Given the description of an element on the screen output the (x, y) to click on. 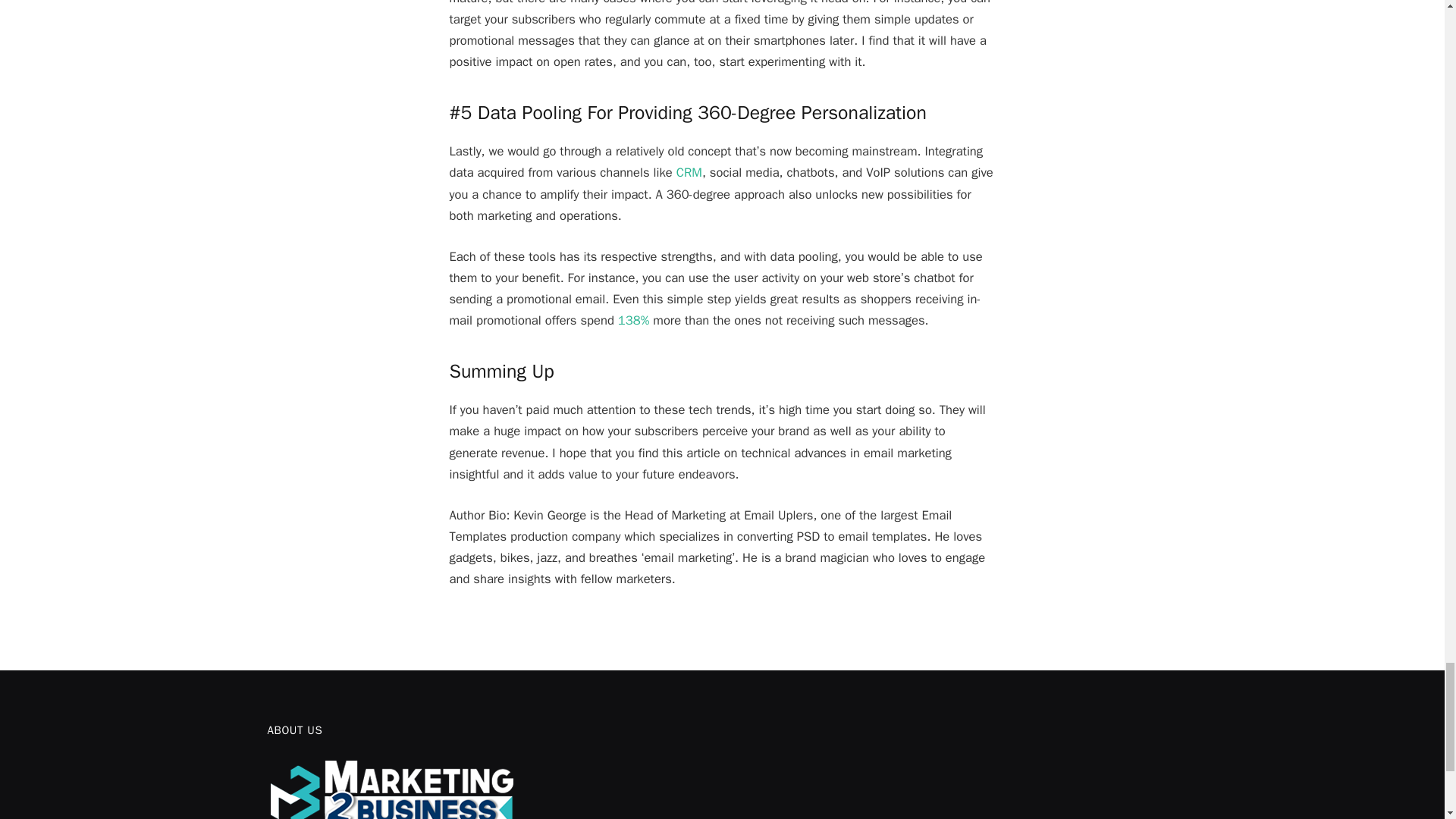
CRM (689, 172)
